Given the description of an element on the screen output the (x, y) to click on. 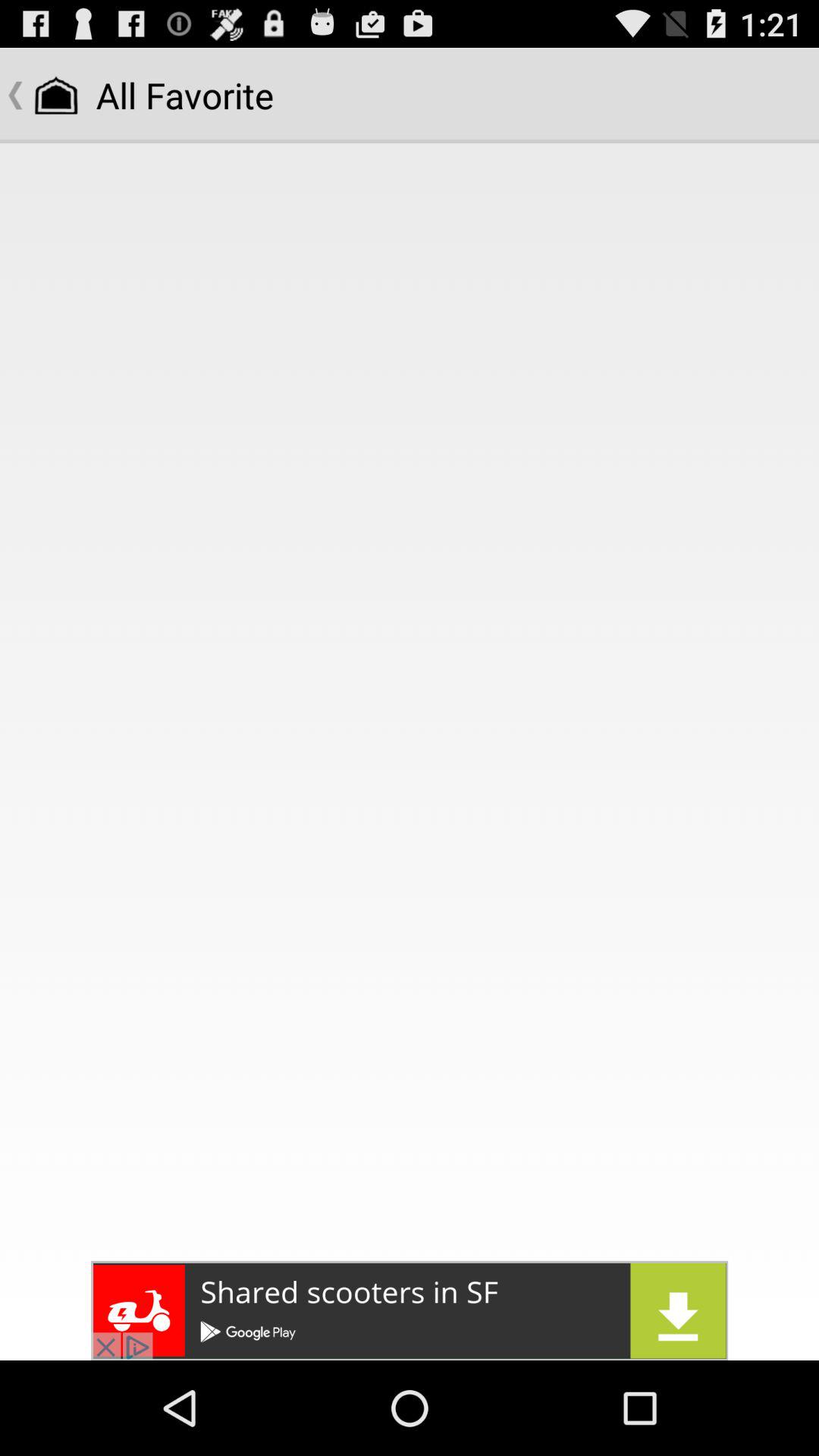
open advertisement (409, 1310)
